Given the description of an element on the screen output the (x, y) to click on. 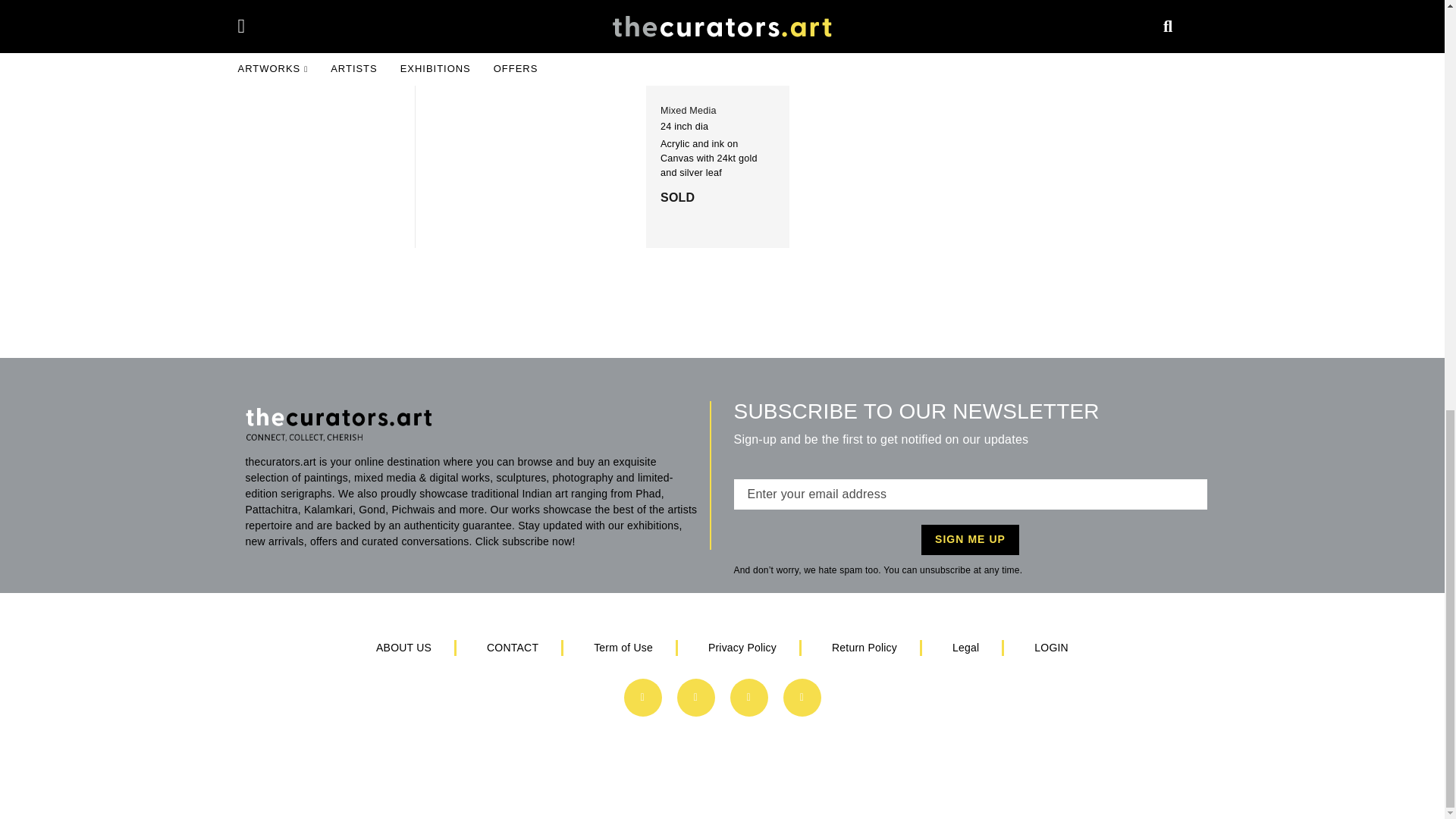
The Curators Art on Facebook (642, 696)
The Curators Art on Instagram (802, 696)
Flight Series (691, 78)
The Curators Art on LinkedIn (695, 696)
The Curators Art on Whatsapp (748, 696)
Mixed Media (688, 110)
